Given the description of an element on the screen output the (x, y) to click on. 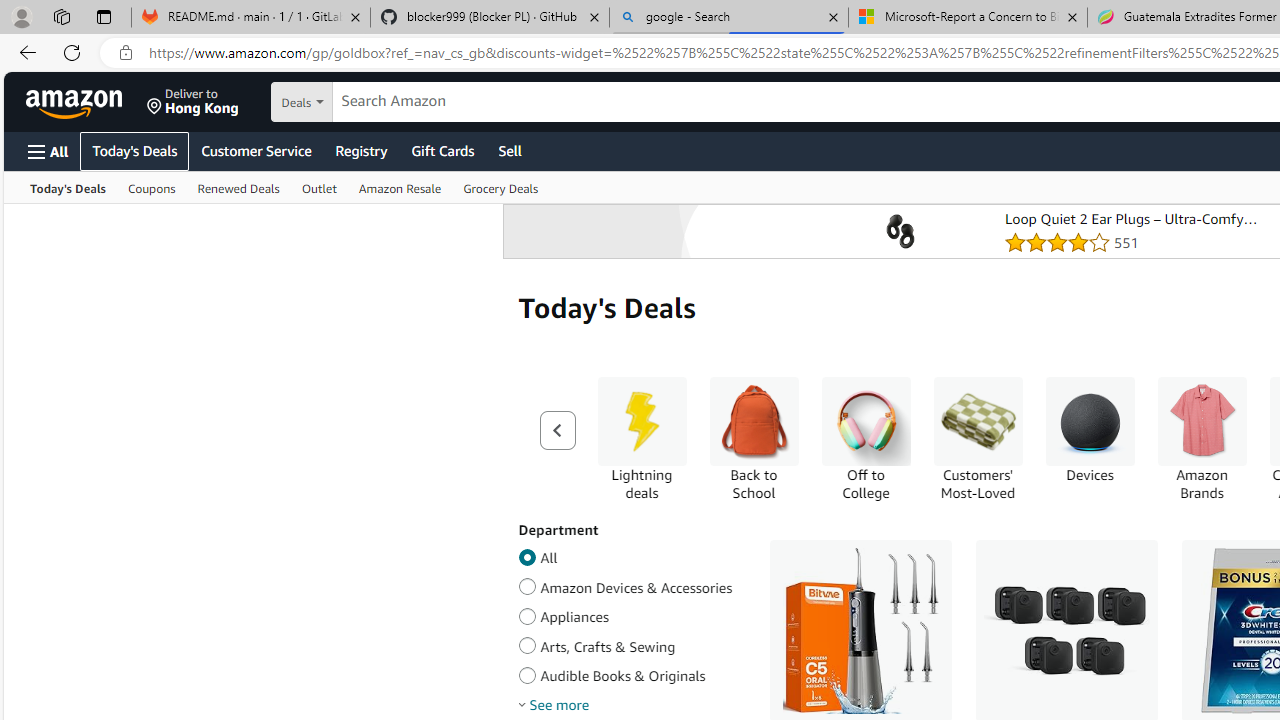
Amazon Devices & Accessories (527, 584)
Amazon Resale (399, 187)
Today's Deals (67, 187)
Devices (1089, 439)
Back to School (753, 421)
Microsoft-Report a Concern to Bing (967, 17)
Devices Devices (1089, 430)
Off to College (865, 421)
Back to School (753, 439)
Gift Cards (442, 150)
Lightning deals (641, 439)
Open Menu (48, 151)
Off to College Off to College (865, 439)
